Given the description of an element on the screen output the (x, y) to click on. 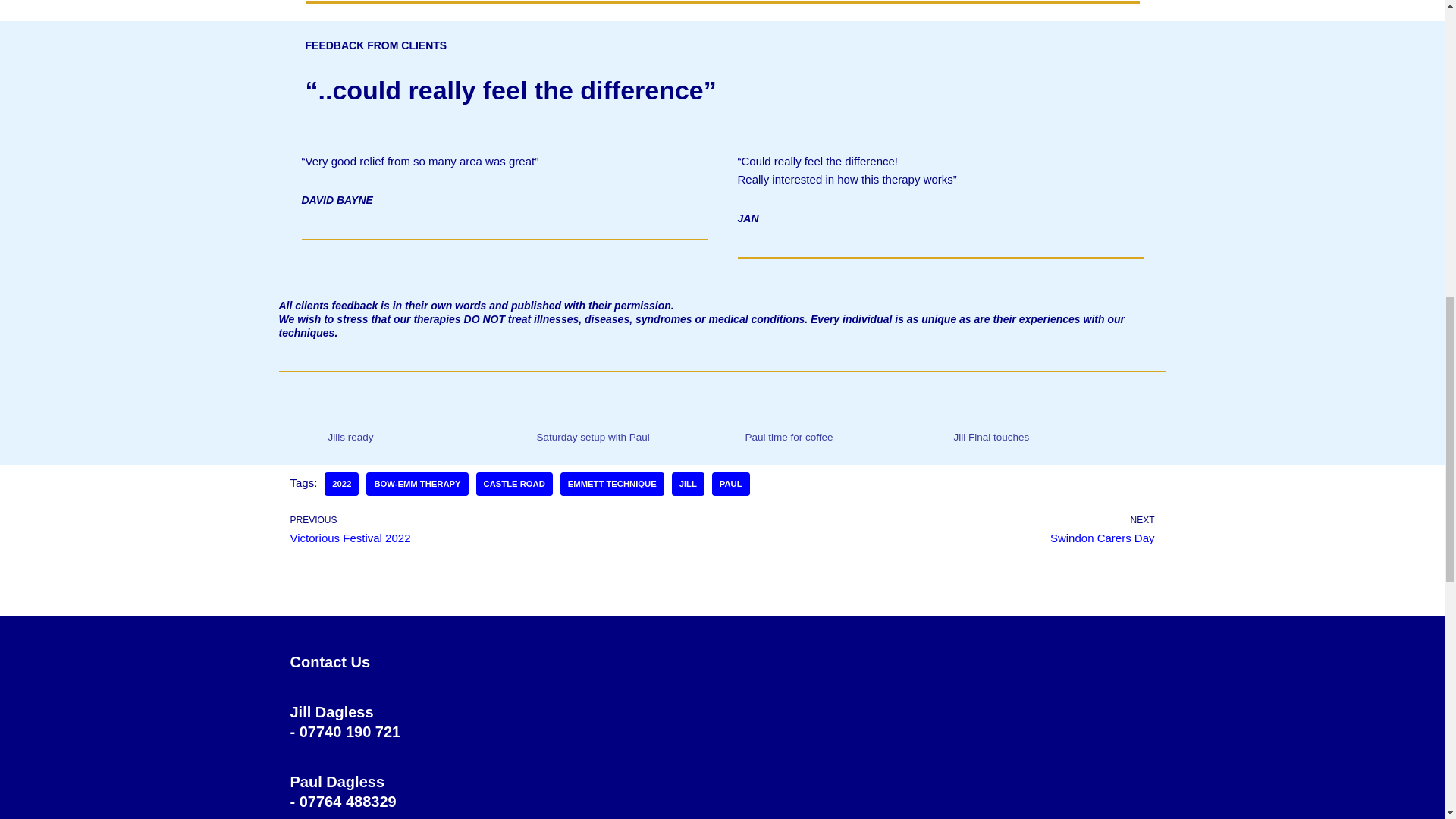
PAUL (941, 529)
EMMETT TECHNIQUE (730, 484)
BOW-EMM THERAPY (611, 484)
JILL (501, 529)
Bow-EMM therapy (416, 484)
EMMETT Technique (687, 484)
Castle Road (416, 484)
Paul (611, 484)
